Given the description of an element on the screen output the (x, y) to click on. 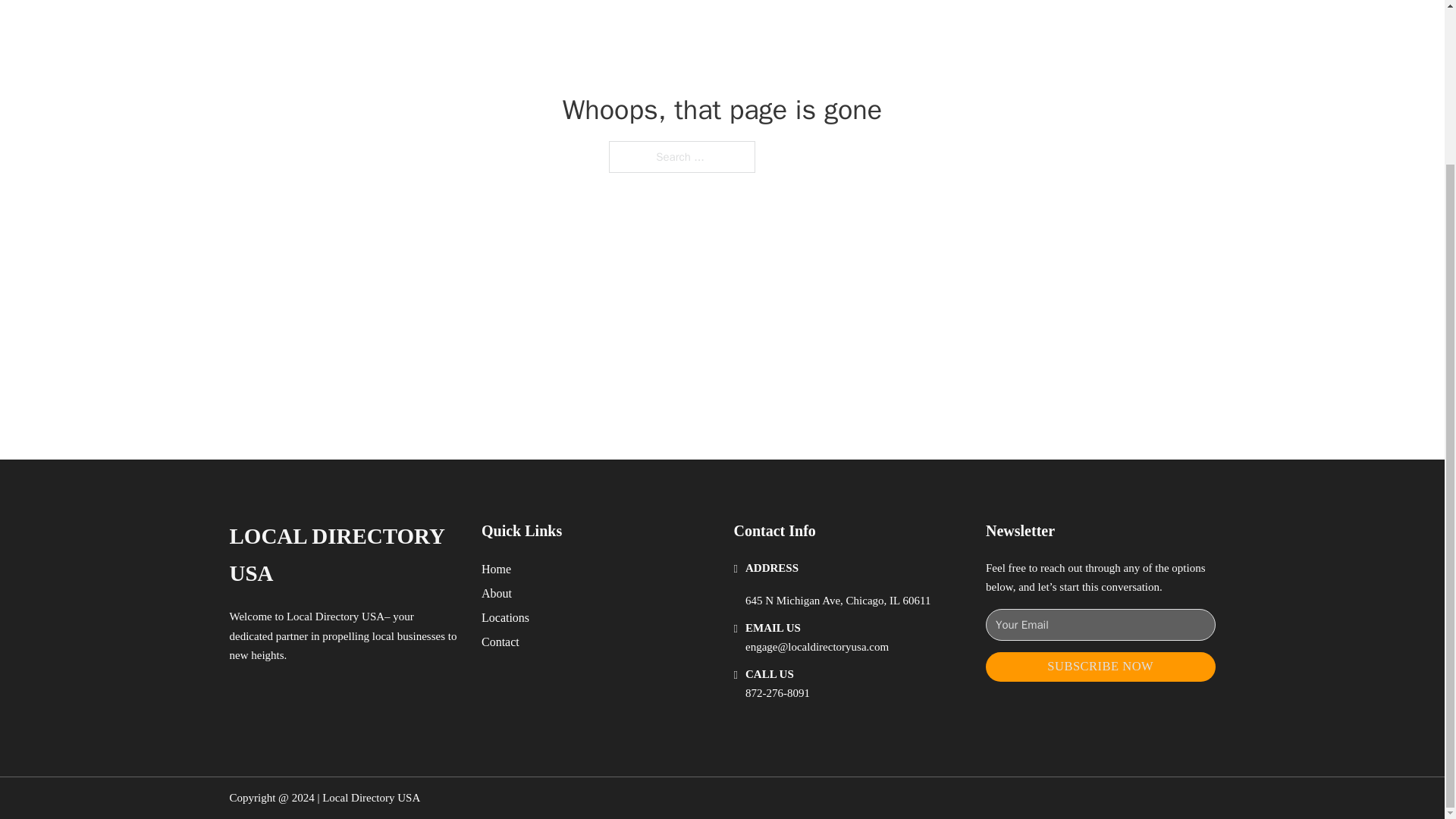
SUBSCRIBE NOW (1100, 666)
About (496, 593)
872-276-8091 (777, 693)
Home (496, 568)
LOCAL DIRECTORY USA (343, 554)
Locations (505, 617)
Contact (500, 641)
